Given the description of an element on the screen output the (x, y) to click on. 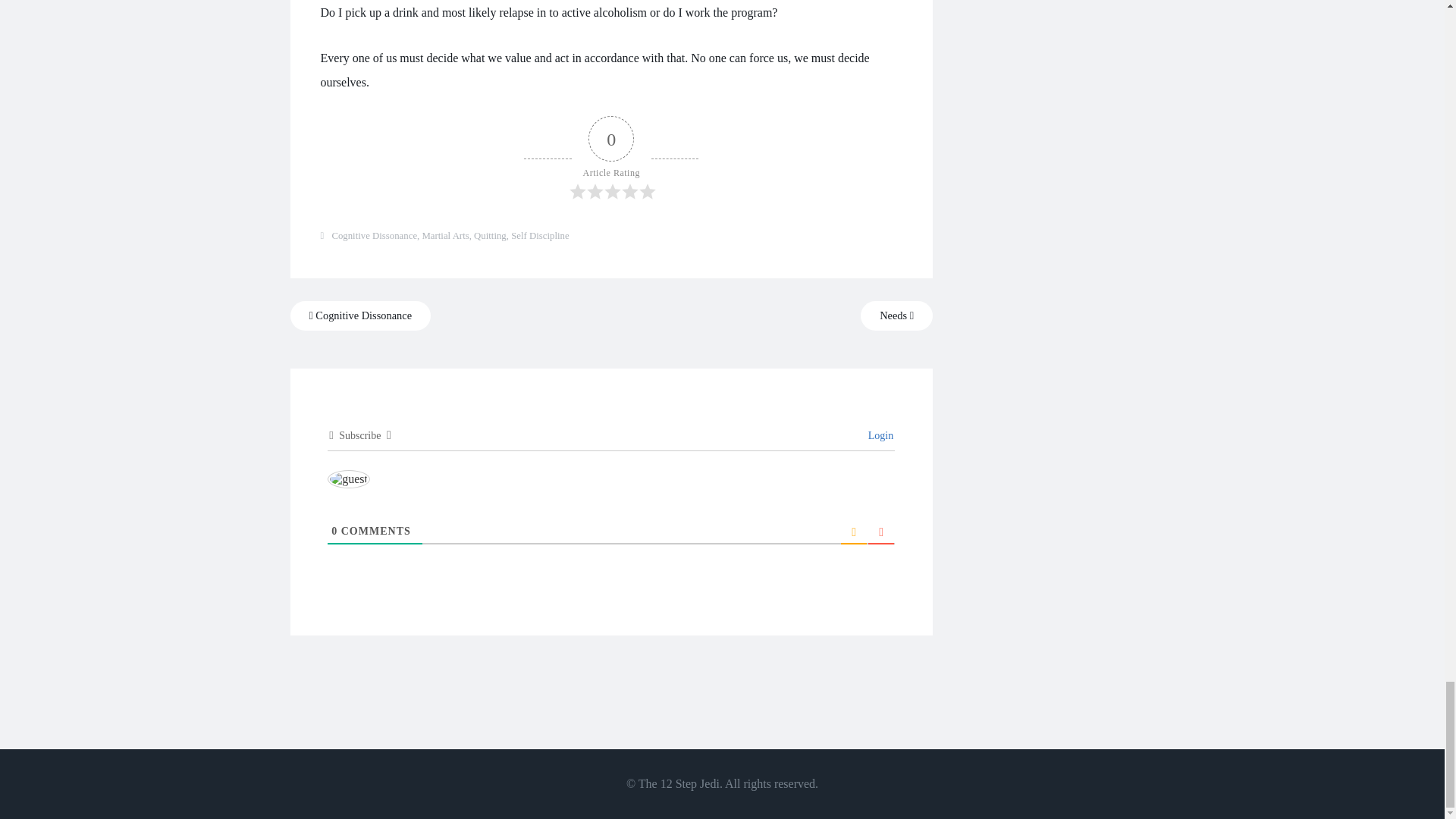
Needs (896, 315)
Self Discipline (540, 235)
Cognitive Dissonance (359, 315)
Cognitive Dissonance (373, 235)
Login (878, 435)
Martial Arts (445, 235)
Quitting (490, 235)
